Given the description of an element on the screen output the (x, y) to click on. 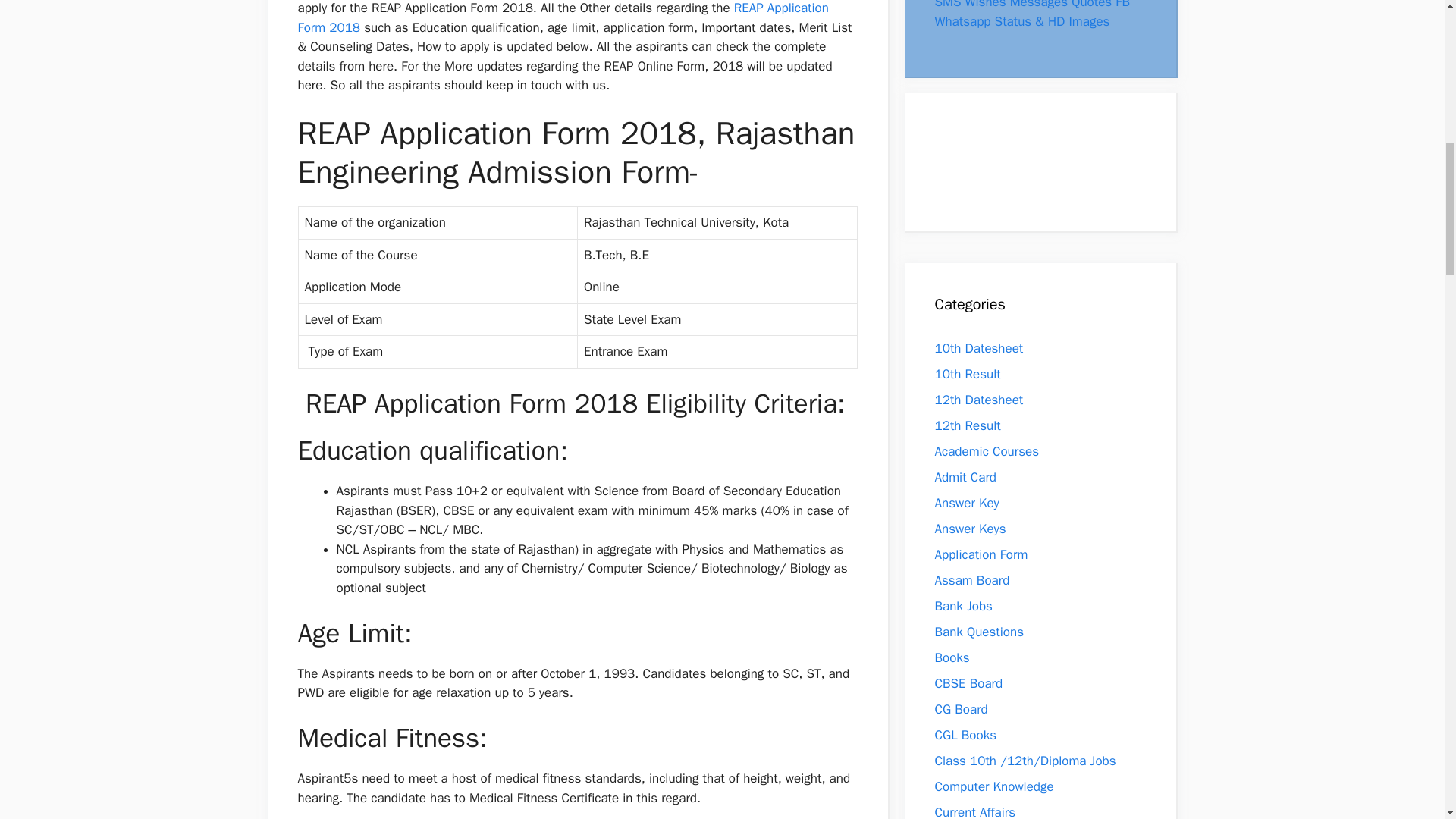
12th Result (967, 425)
10th Datesheet (978, 348)
12th Datesheet (978, 399)
10th Result (967, 374)
Admit Card (964, 477)
Academic Courses (986, 451)
REAP Application Form 2018 (562, 18)
